Given the description of an element on the screen output the (x, y) to click on. 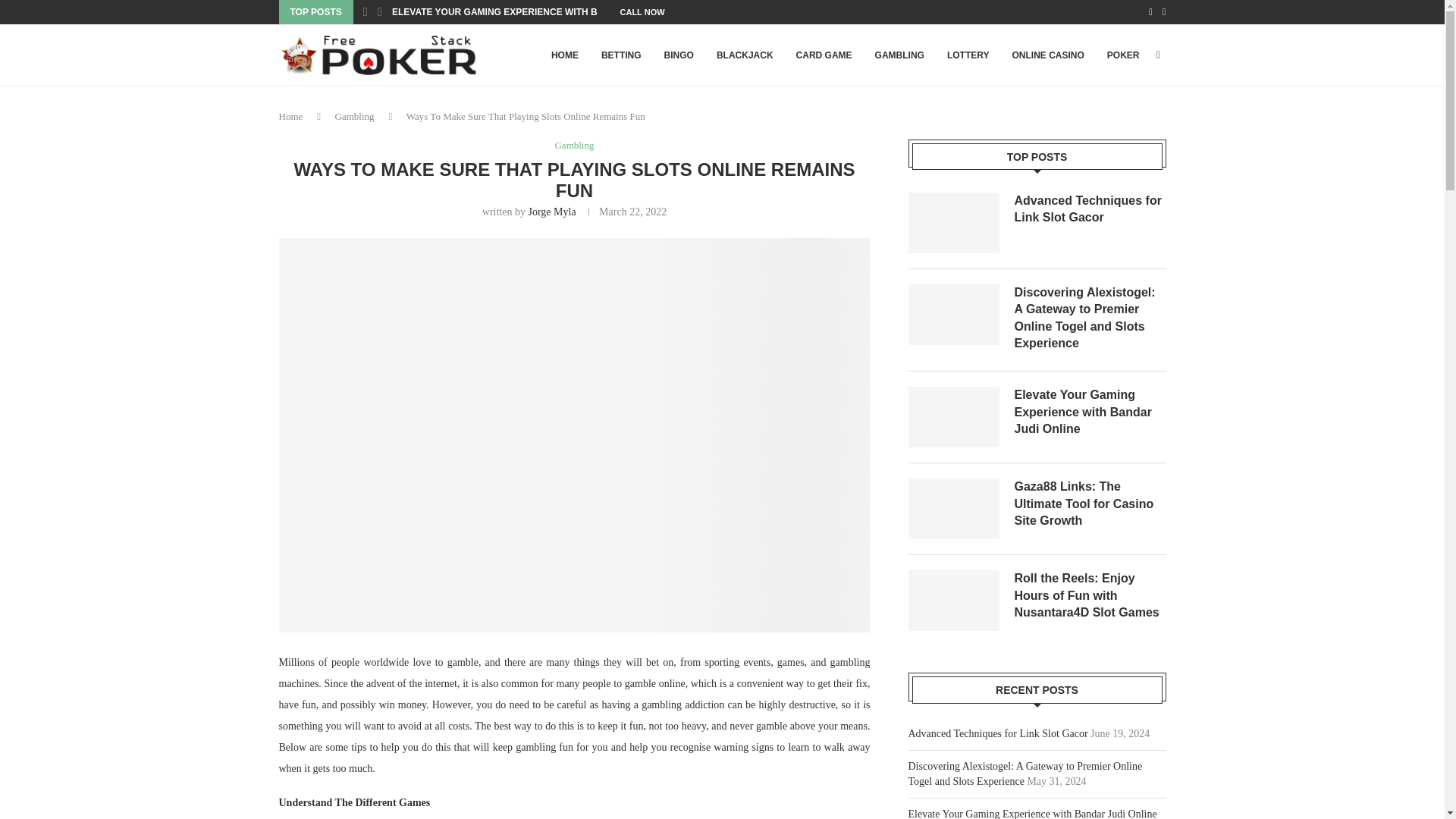
Gambling (354, 116)
ELEVATE YOUR GAMING EXPERIENCE WITH BANDAR JUDI ONLINE (540, 12)
CALL NOW (642, 12)
CARD GAME (823, 55)
ONLINE CASINO (1047, 55)
Home (290, 116)
BLACKJACK (744, 55)
